Given the description of an element on the screen output the (x, y) to click on. 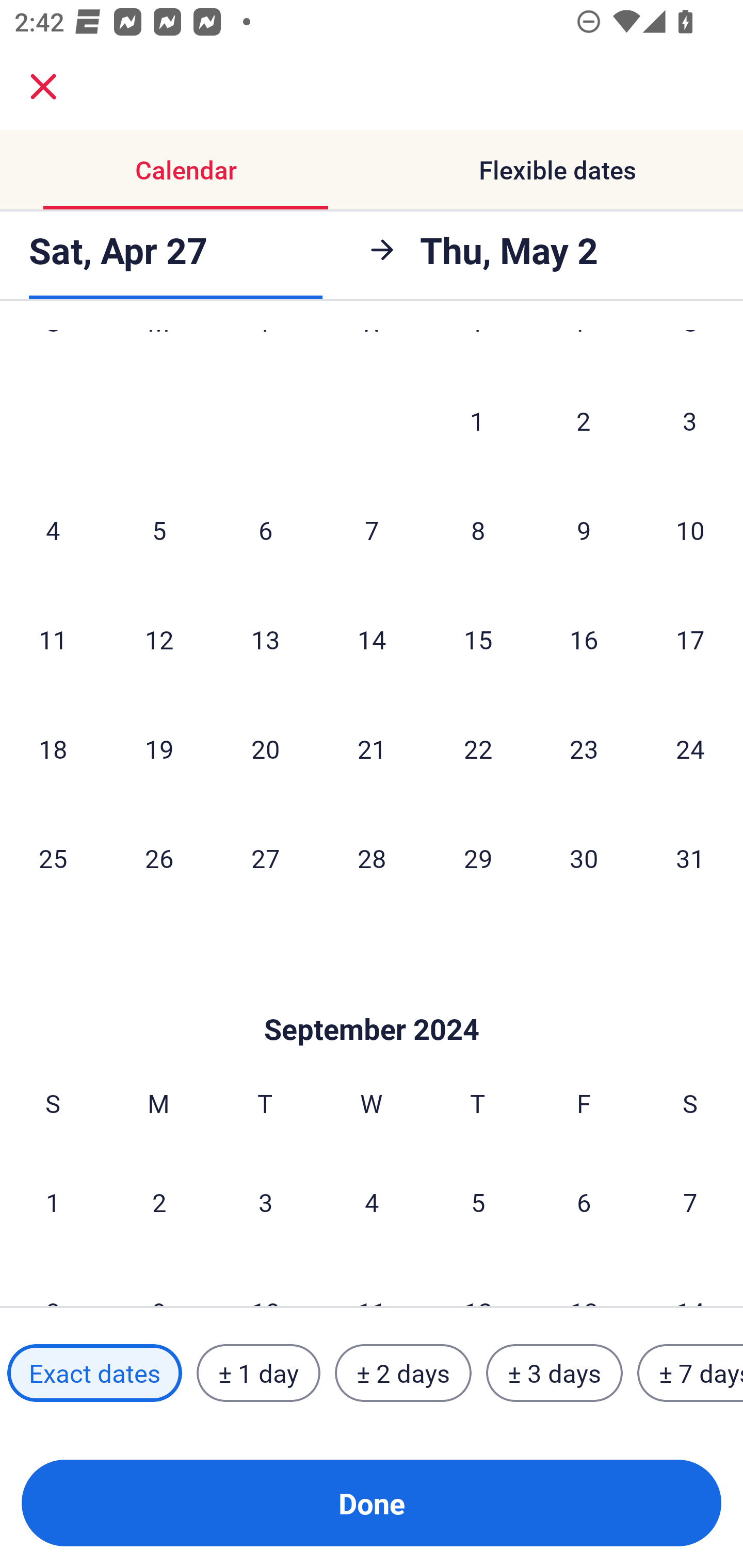
close. (43, 86)
Flexible dates (557, 170)
1 Thursday, August 1, 2024 (477, 420)
2 Friday, August 2, 2024 (583, 420)
3 Saturday, August 3, 2024 (689, 420)
4 Sunday, August 4, 2024 (53, 529)
5 Monday, August 5, 2024 (159, 529)
6 Tuesday, August 6, 2024 (265, 529)
7 Wednesday, August 7, 2024 (371, 529)
8 Thursday, August 8, 2024 (477, 529)
9 Friday, August 9, 2024 (584, 529)
10 Saturday, August 10, 2024 (690, 529)
11 Sunday, August 11, 2024 (53, 638)
12 Monday, August 12, 2024 (159, 638)
13 Tuesday, August 13, 2024 (265, 638)
14 Wednesday, August 14, 2024 (371, 638)
15 Thursday, August 15, 2024 (477, 638)
16 Friday, August 16, 2024 (584, 638)
17 Saturday, August 17, 2024 (690, 638)
18 Sunday, August 18, 2024 (53, 748)
19 Monday, August 19, 2024 (159, 748)
20 Tuesday, August 20, 2024 (265, 748)
21 Wednesday, August 21, 2024 (371, 748)
22 Thursday, August 22, 2024 (477, 748)
23 Friday, August 23, 2024 (584, 748)
24 Saturday, August 24, 2024 (690, 748)
25 Sunday, August 25, 2024 (53, 857)
26 Monday, August 26, 2024 (159, 857)
27 Tuesday, August 27, 2024 (265, 857)
28 Wednesday, August 28, 2024 (371, 857)
29 Thursday, August 29, 2024 (477, 857)
30 Friday, August 30, 2024 (584, 857)
31 Saturday, August 31, 2024 (690, 857)
Skip to Done (371, 997)
1 Sunday, September 1, 2024 (53, 1201)
2 Monday, September 2, 2024 (159, 1201)
3 Tuesday, September 3, 2024 (265, 1201)
4 Wednesday, September 4, 2024 (371, 1201)
5 Thursday, September 5, 2024 (477, 1201)
6 Friday, September 6, 2024 (584, 1201)
7 Saturday, September 7, 2024 (690, 1201)
Exact dates (94, 1372)
± 1 day (258, 1372)
± 2 days (403, 1372)
± 3 days (553, 1372)
± 7 days (690, 1372)
Done (371, 1502)
